Given the description of an element on the screen output the (x, y) to click on. 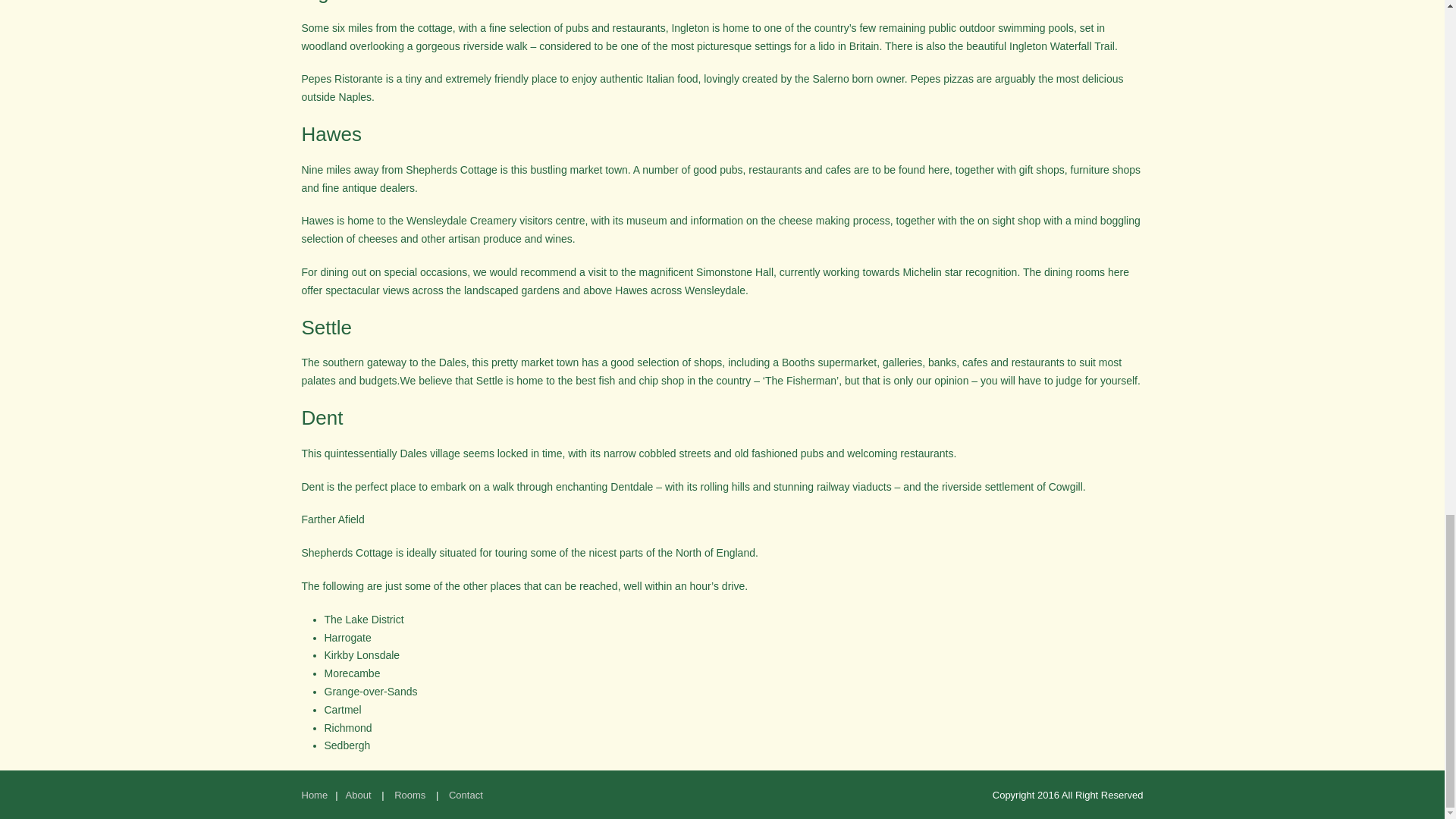
Home (315, 794)
Contact (465, 794)
About (358, 794)
Rooms (409, 794)
